Given the description of an element on the screen output the (x, y) to click on. 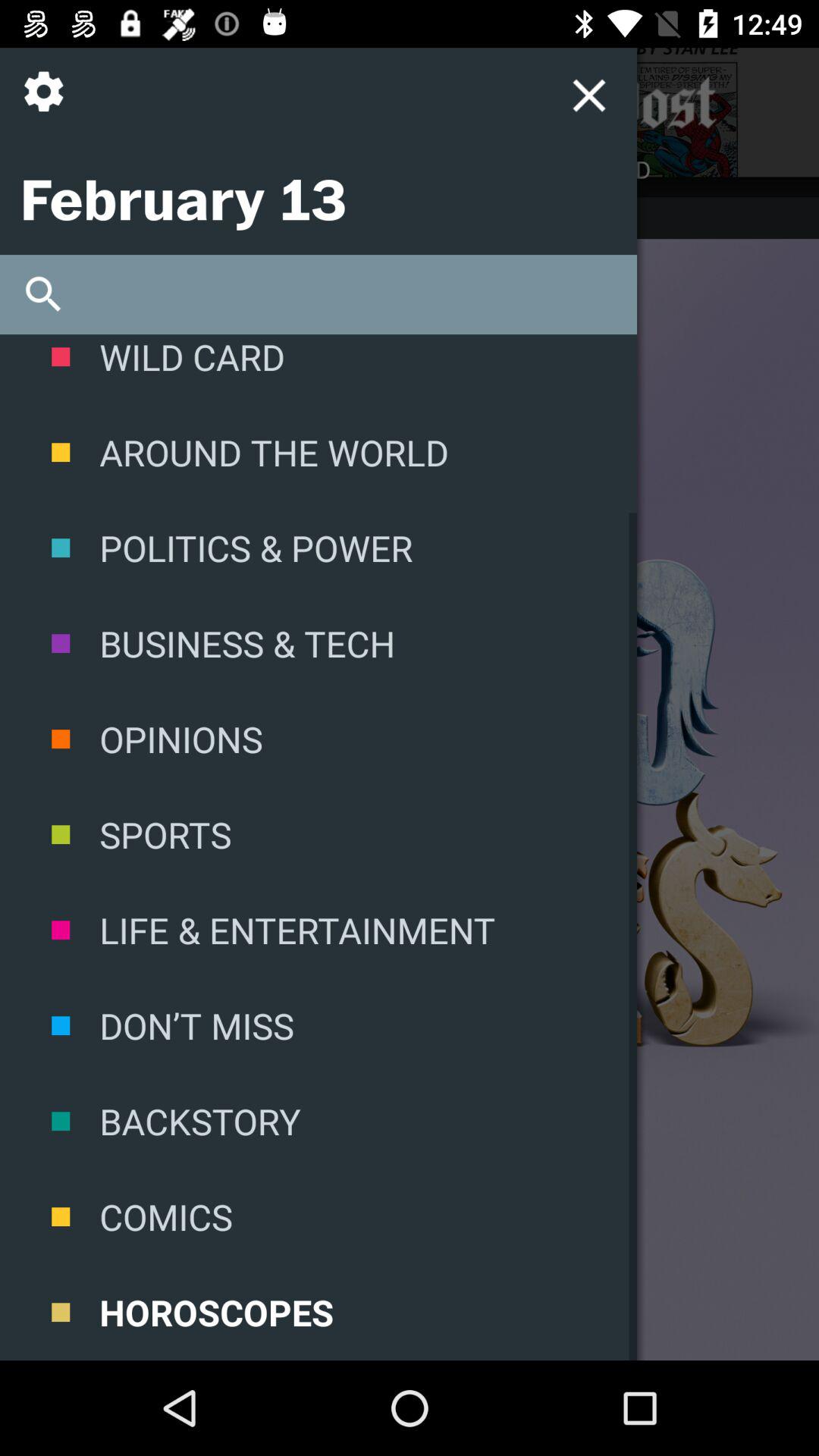
turn on the icon above comics item (318, 1121)
